Given the description of an element on the screen output the (x, y) to click on. 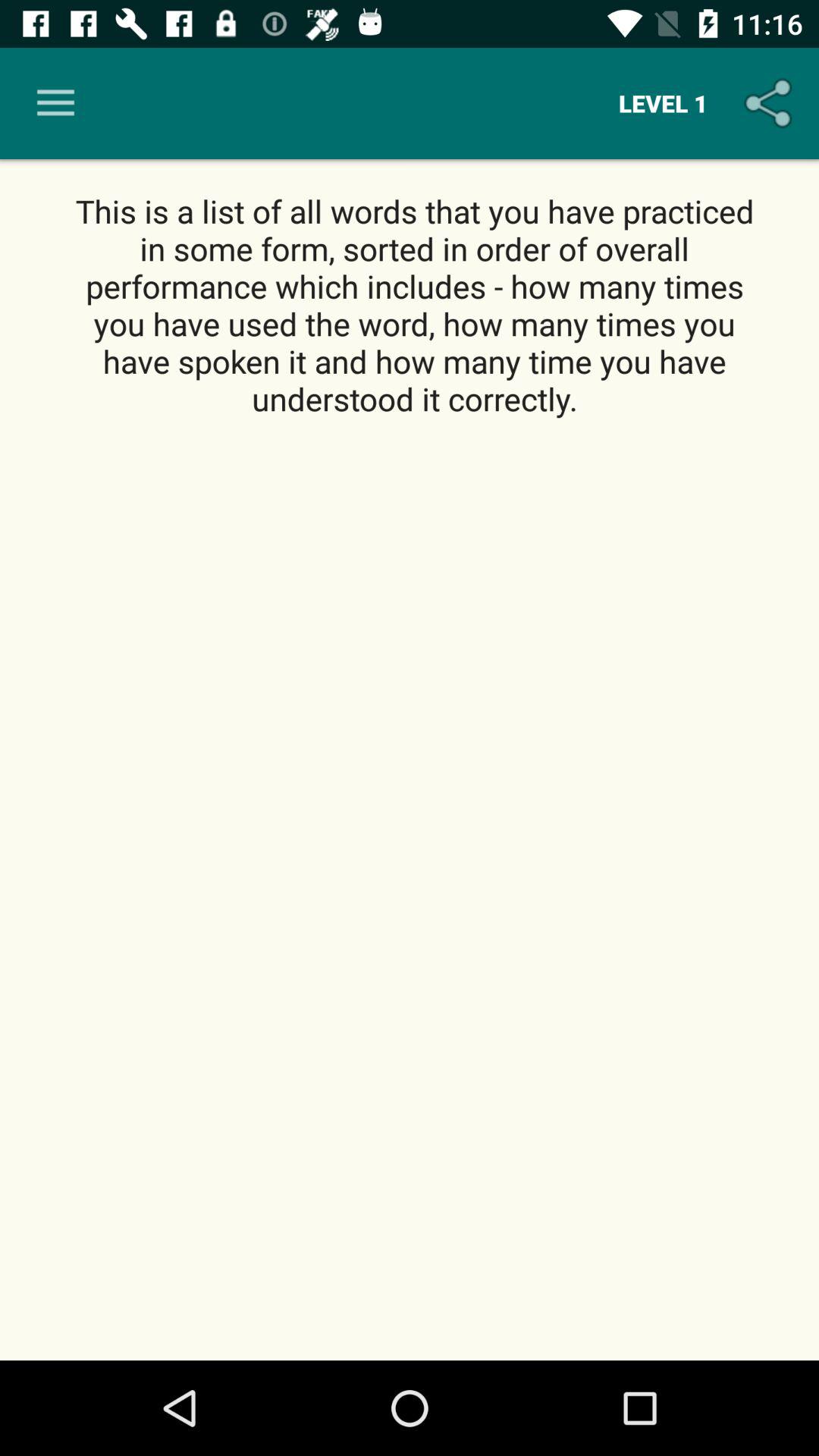
scroll to level 1 icon (662, 103)
